Given the description of an element on the screen output the (x, y) to click on. 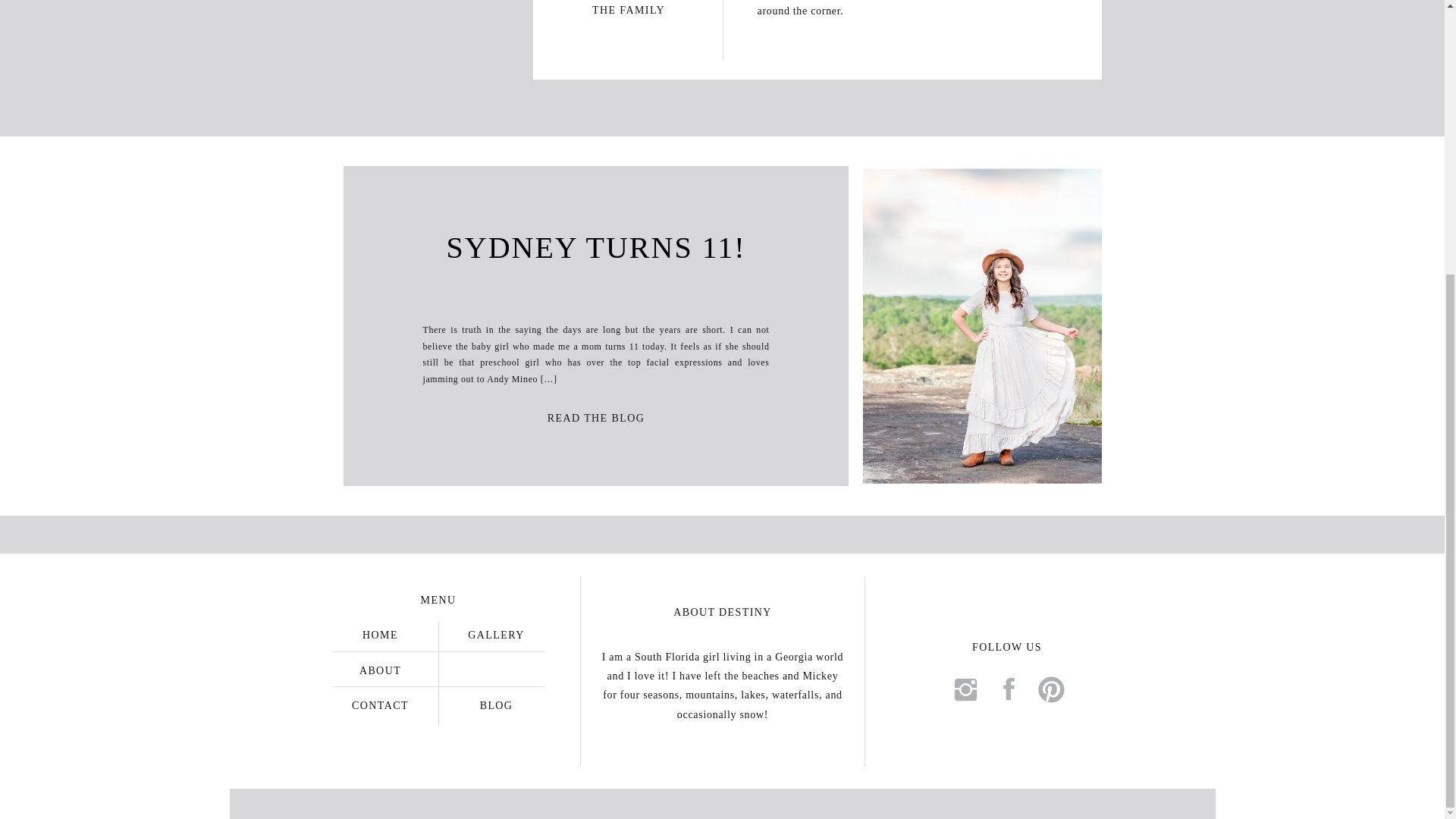
CONTACT (380, 704)
HOME (380, 633)
READ THE BLOG (596, 415)
ABOUT (380, 669)
SYDNEY TURNS 11! (595, 247)
THE FAMILY (627, 7)
BLOG (495, 704)
Sydney turns 11! (596, 415)
GALLERY (495, 633)
